Given the description of an element on the screen output the (x, y) to click on. 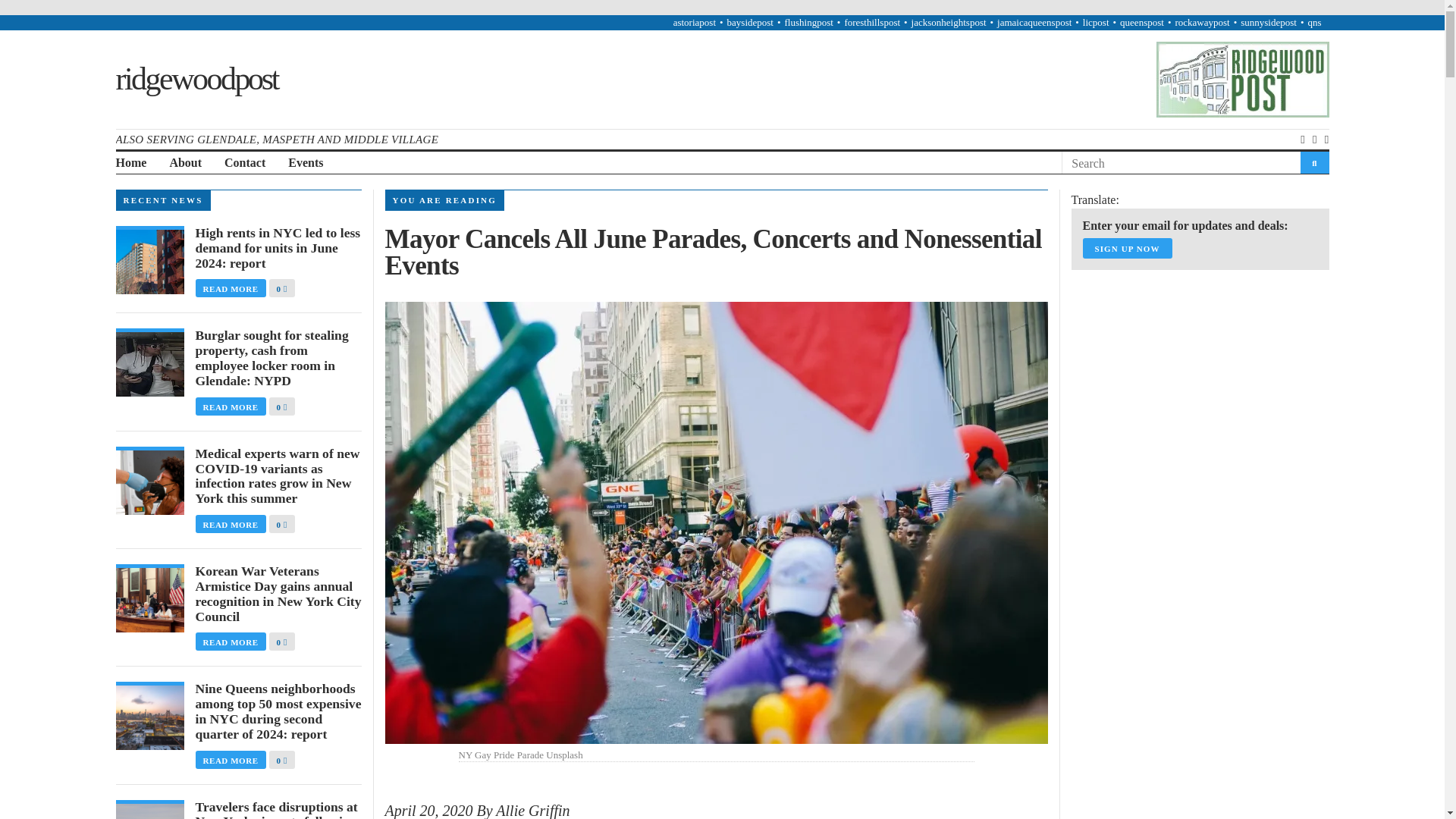
qns (1313, 21)
Contact (244, 163)
rockawaypost (1201, 21)
foresthillspost (871, 21)
licpost (1096, 21)
ridgewoodpost (196, 78)
astoriapost (694, 21)
About (185, 163)
queenspost (1141, 21)
Events (305, 163)
jamaicaqueenspost (1034, 21)
Home (131, 163)
sunnysidepost (1268, 21)
flushingpost (808, 21)
baysidepost (749, 21)
